Given the description of an element on the screen output the (x, y) to click on. 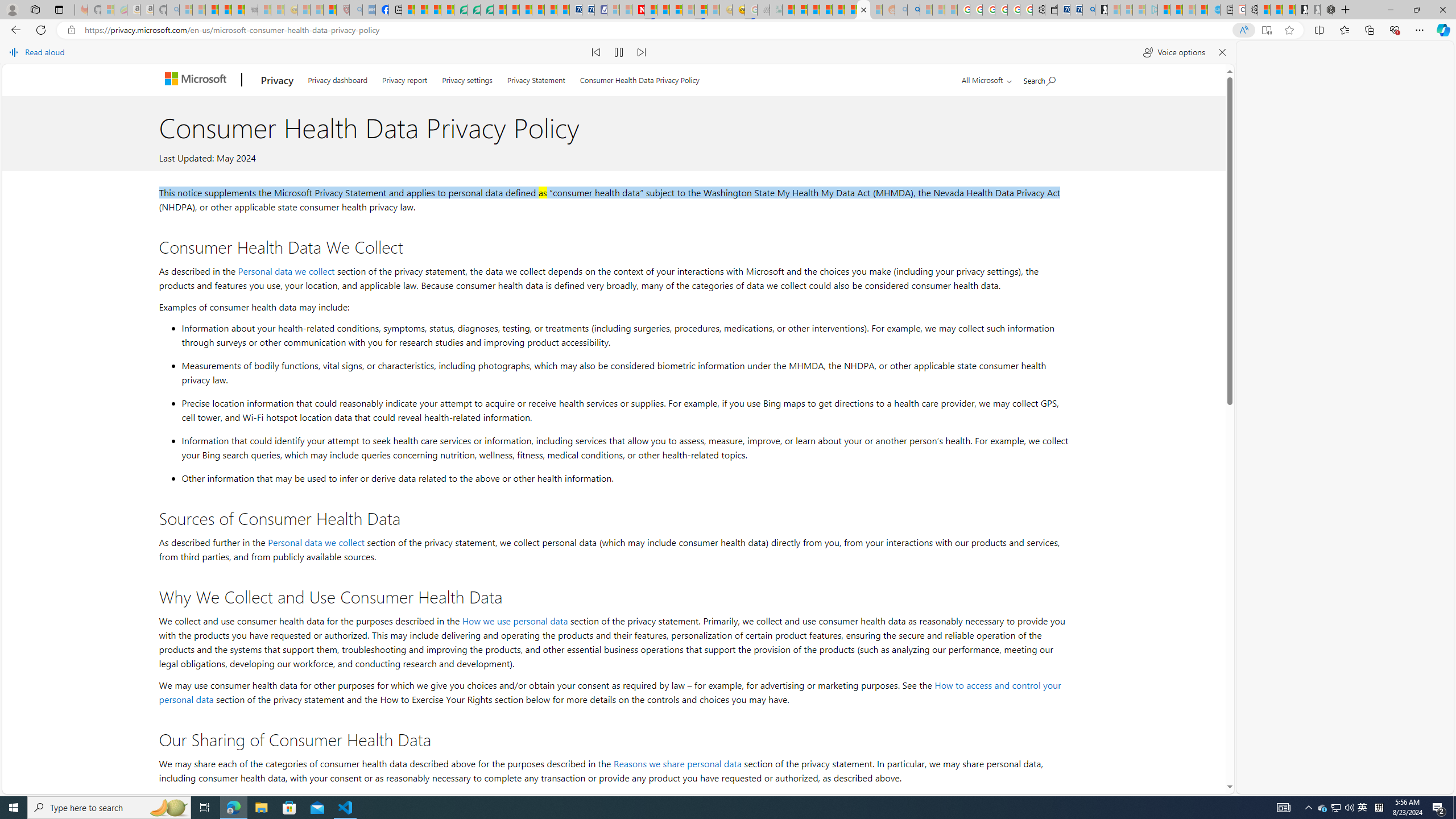
Home | Sky Blue Bikes - Sky Blue Bikes (1213, 9)
Latest Politics News & Archive | Newsweek.com (638, 9)
Recipes - MSN - Sleeping (303, 9)
How to access and control your personal data (609, 691)
